Given the description of an element on the screen output the (x, y) to click on. 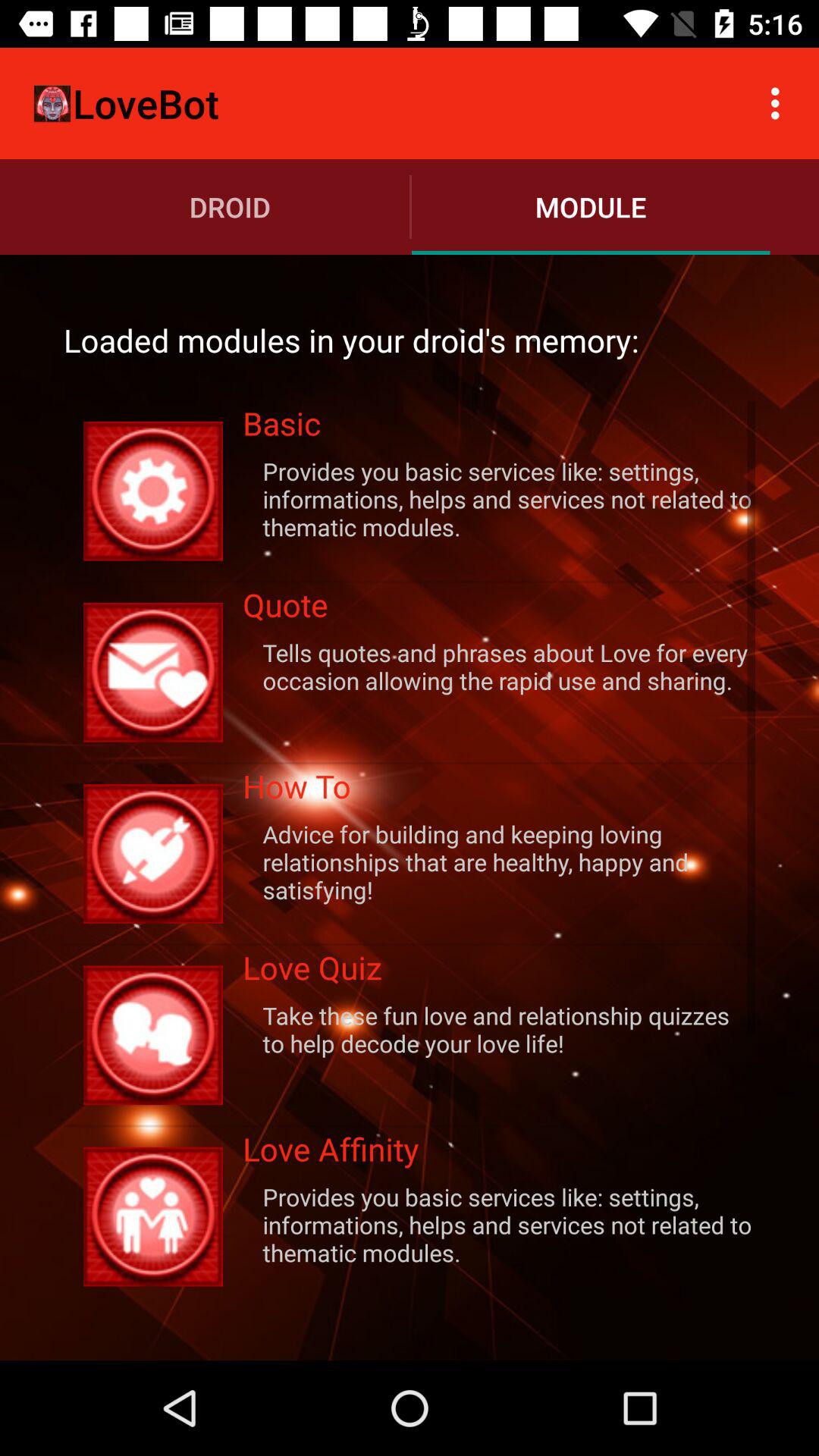
tap quote item (498, 609)
